Given the description of an element on the screen output the (x, y) to click on. 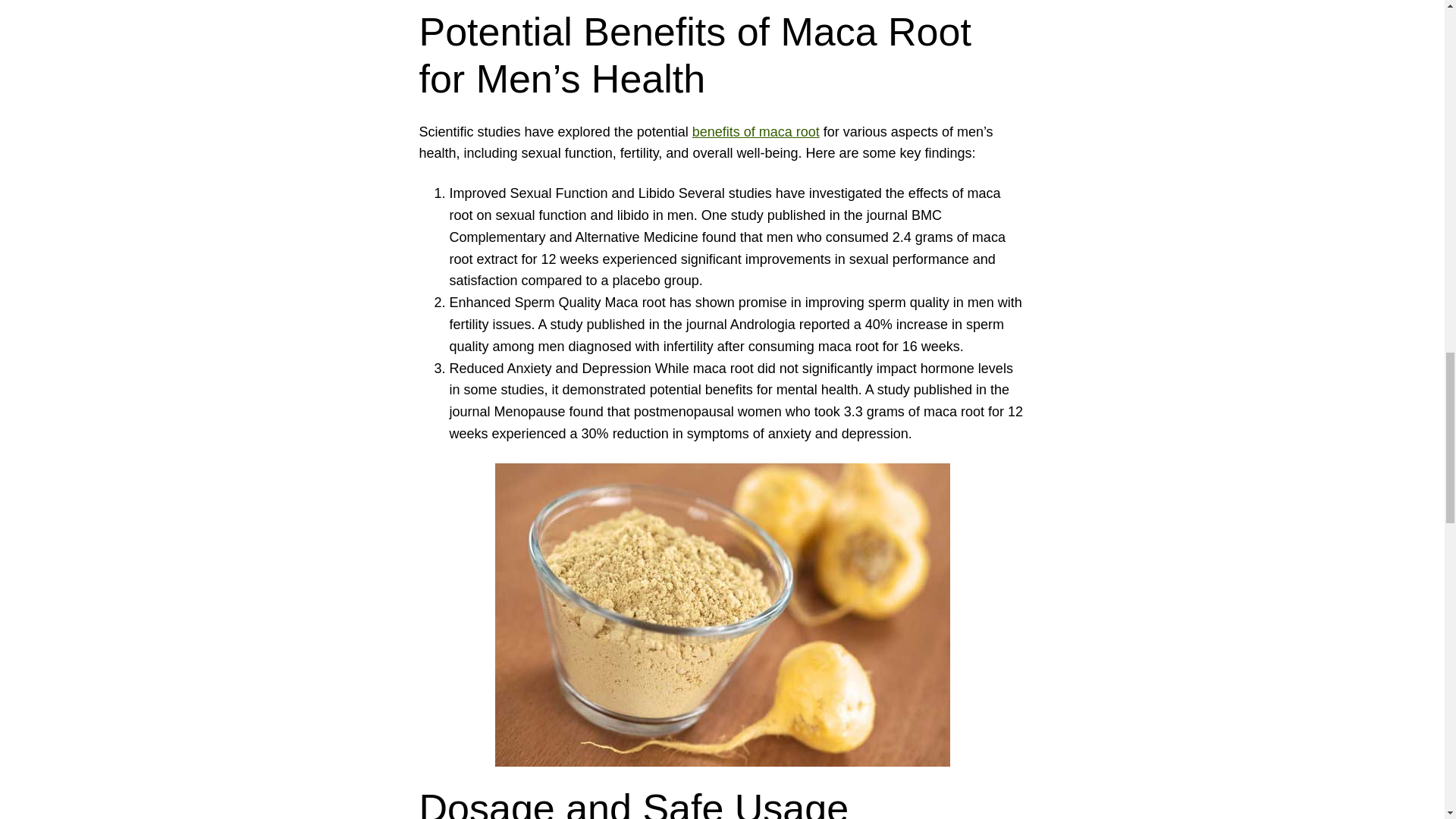
benefits of maca root (756, 131)
